Given the description of an element on the screen output the (x, y) to click on. 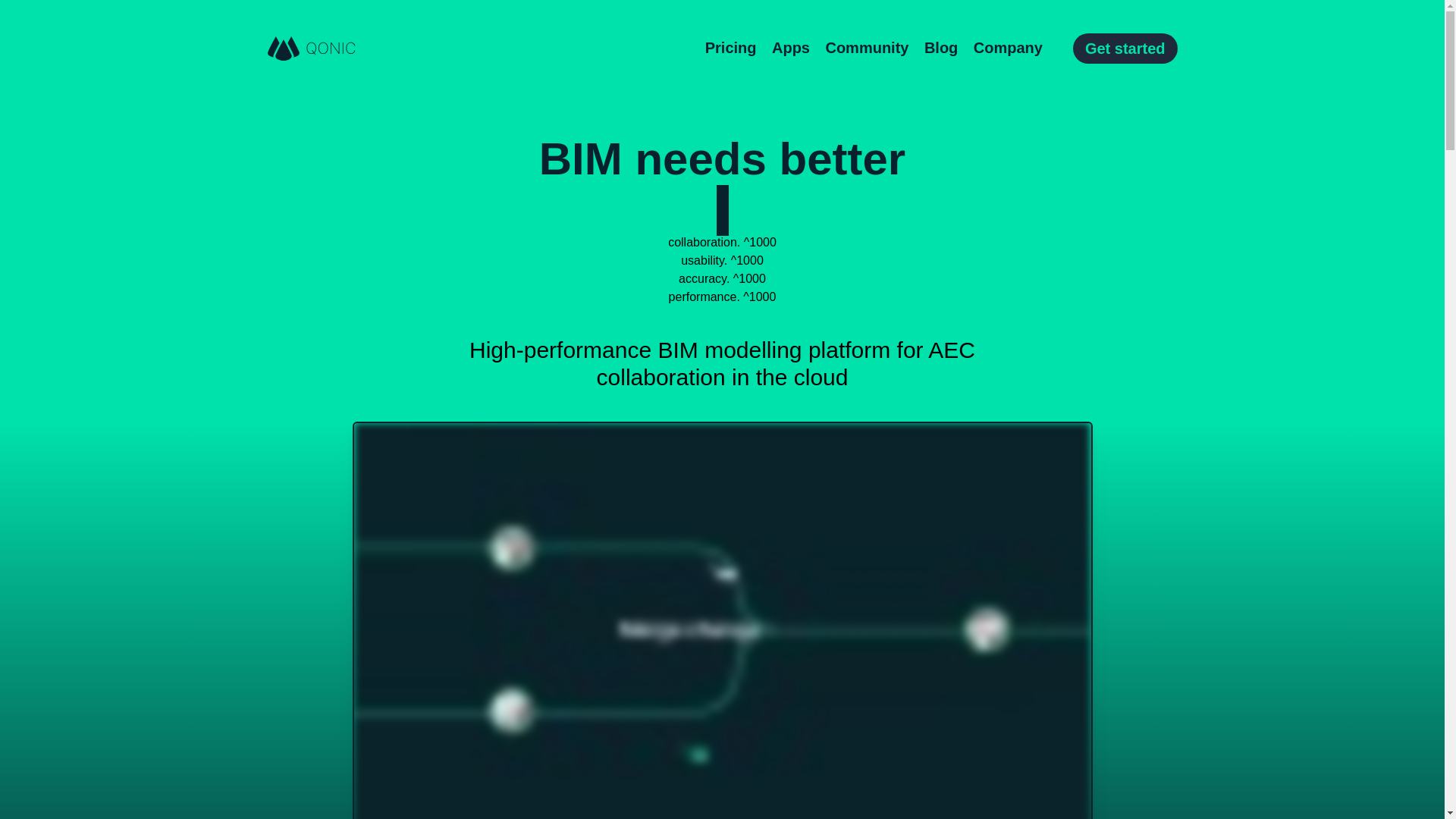
Company (1008, 48)
Apps (790, 48)
Community (866, 48)
Get started (1125, 48)
Blog (940, 48)
Pricing (730, 48)
